Given the description of an element on the screen output the (x, y) to click on. 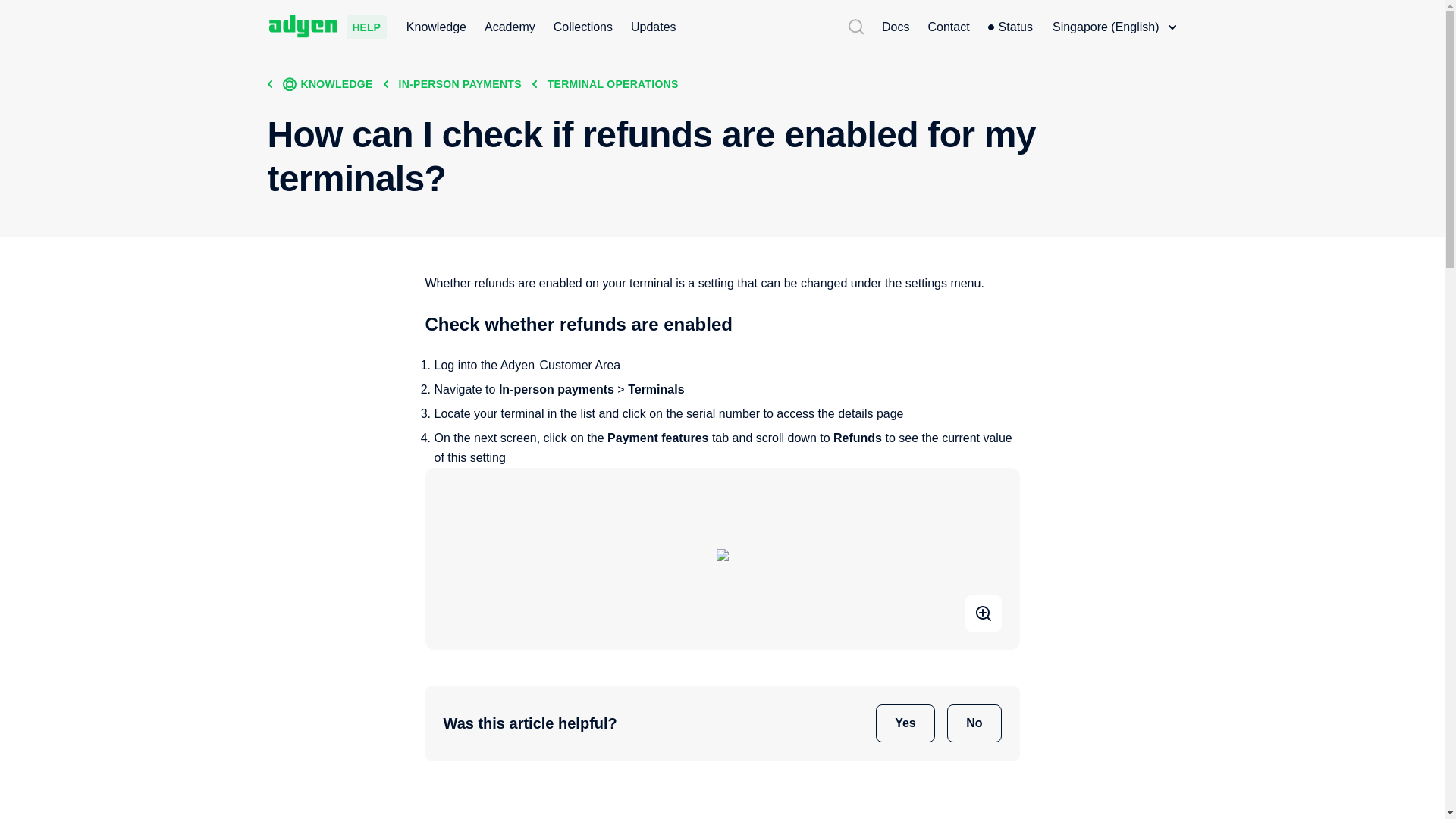
Collections (582, 27)
Customer Area (580, 365)
IN-PERSON PAYMENTS (459, 83)
Academy (509, 27)
KNOWLEDGE (327, 83)
Knowledge (435, 27)
HELP (326, 26)
TERMINAL OPERATIONS (612, 83)
No (974, 723)
Yes (905, 723)
